Given the description of an element on the screen output the (x, y) to click on. 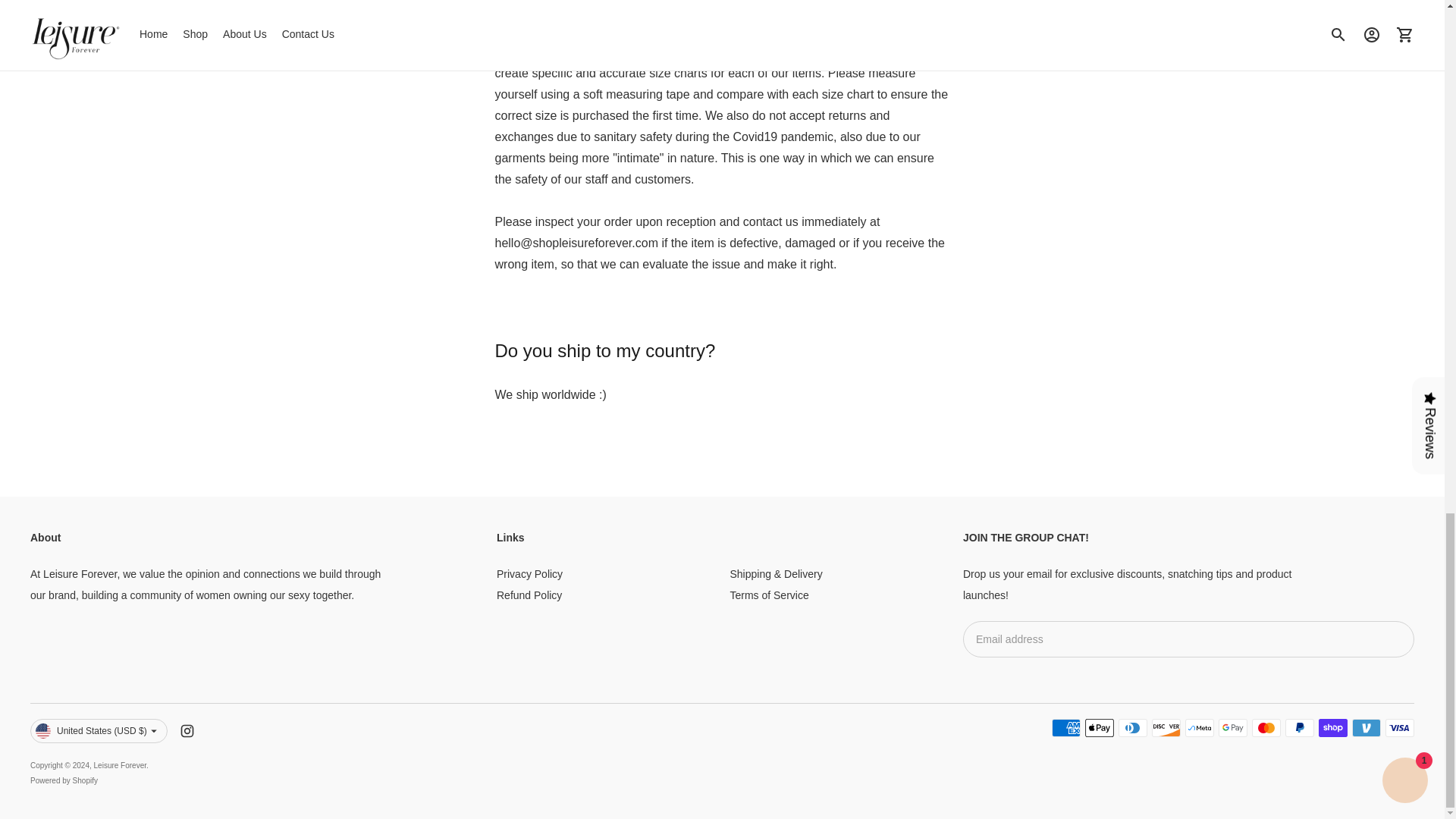
Leisure Forever on Instagram (187, 730)
